Given the description of an element on the screen output the (x, y) to click on. 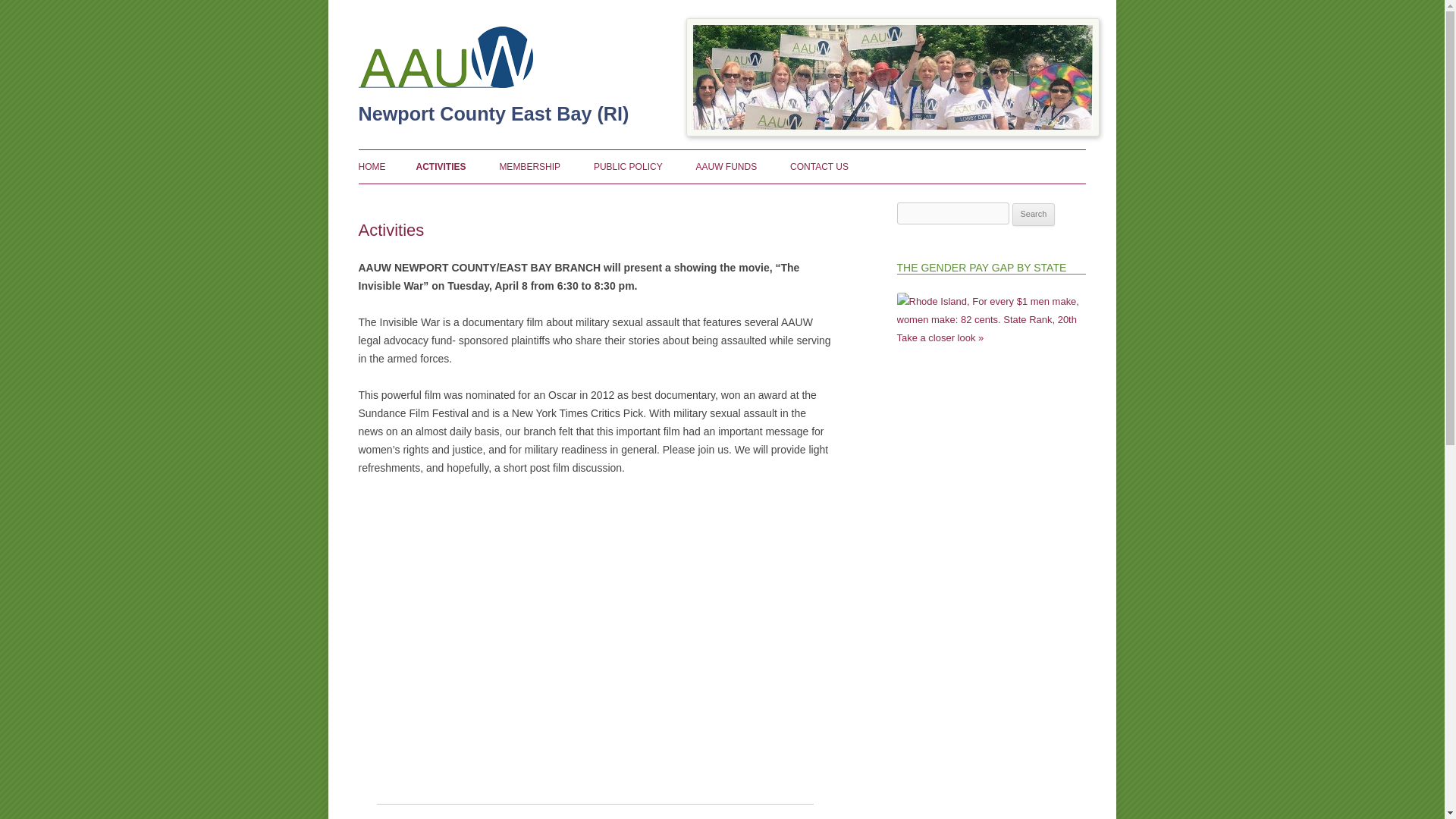
MEMBERSHIP (529, 166)
The Invisible War - Official Trailer (594, 628)
CONTACT US (819, 166)
PUBLIC POLICY (628, 166)
AAUW FUNDS (726, 166)
Search (1033, 214)
Search (1033, 214)
ACTIVITIES (439, 166)
